Given the description of an element on the screen output the (x, y) to click on. 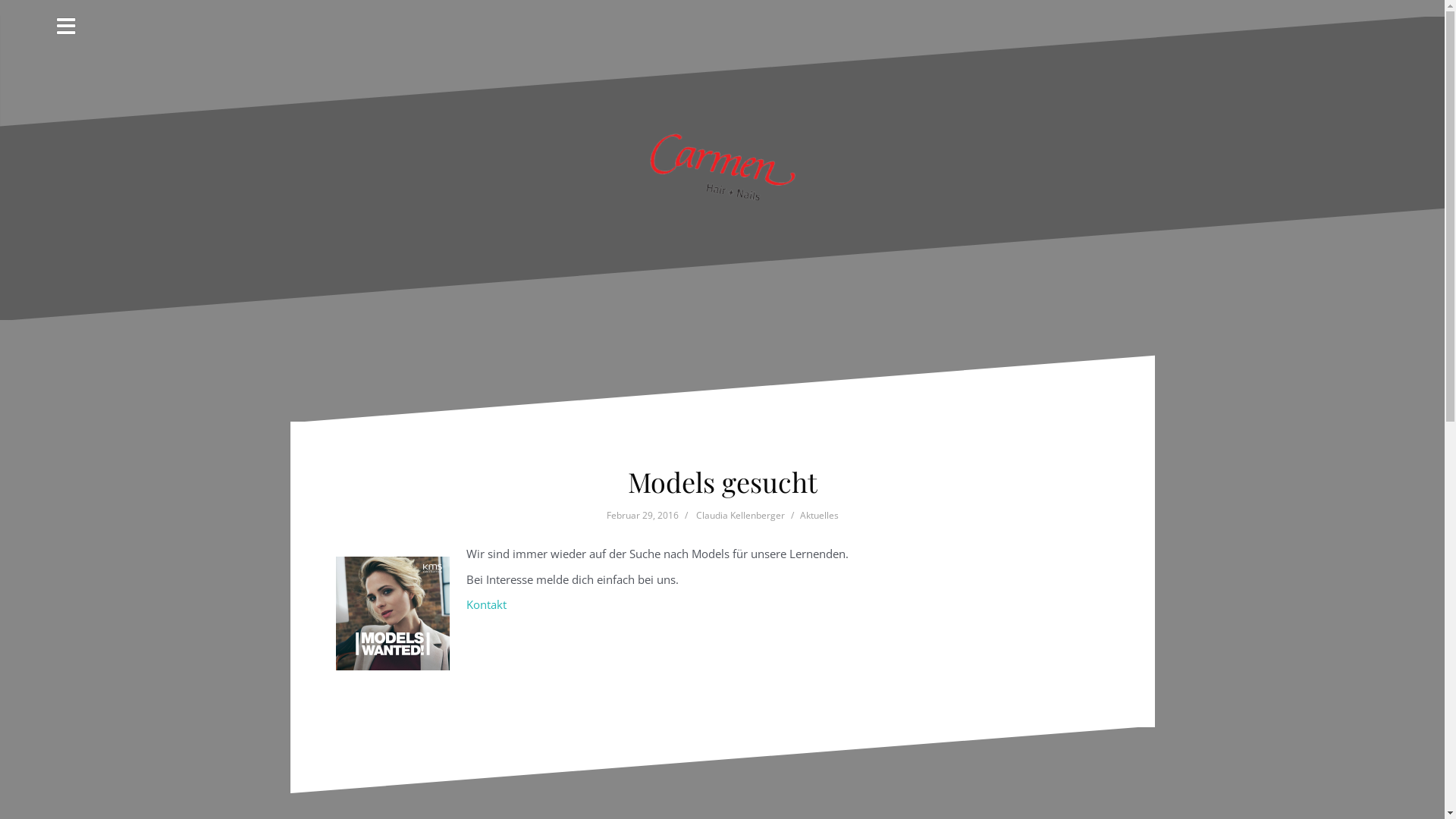
Kontakt Element type: text (486, 603)
Aktuelles Element type: text (818, 514)
Februar 29, 2016 Element type: text (642, 514)
Claudia Kellenberger Element type: text (740, 514)
